Given the description of an element on the screen output the (x, y) to click on. 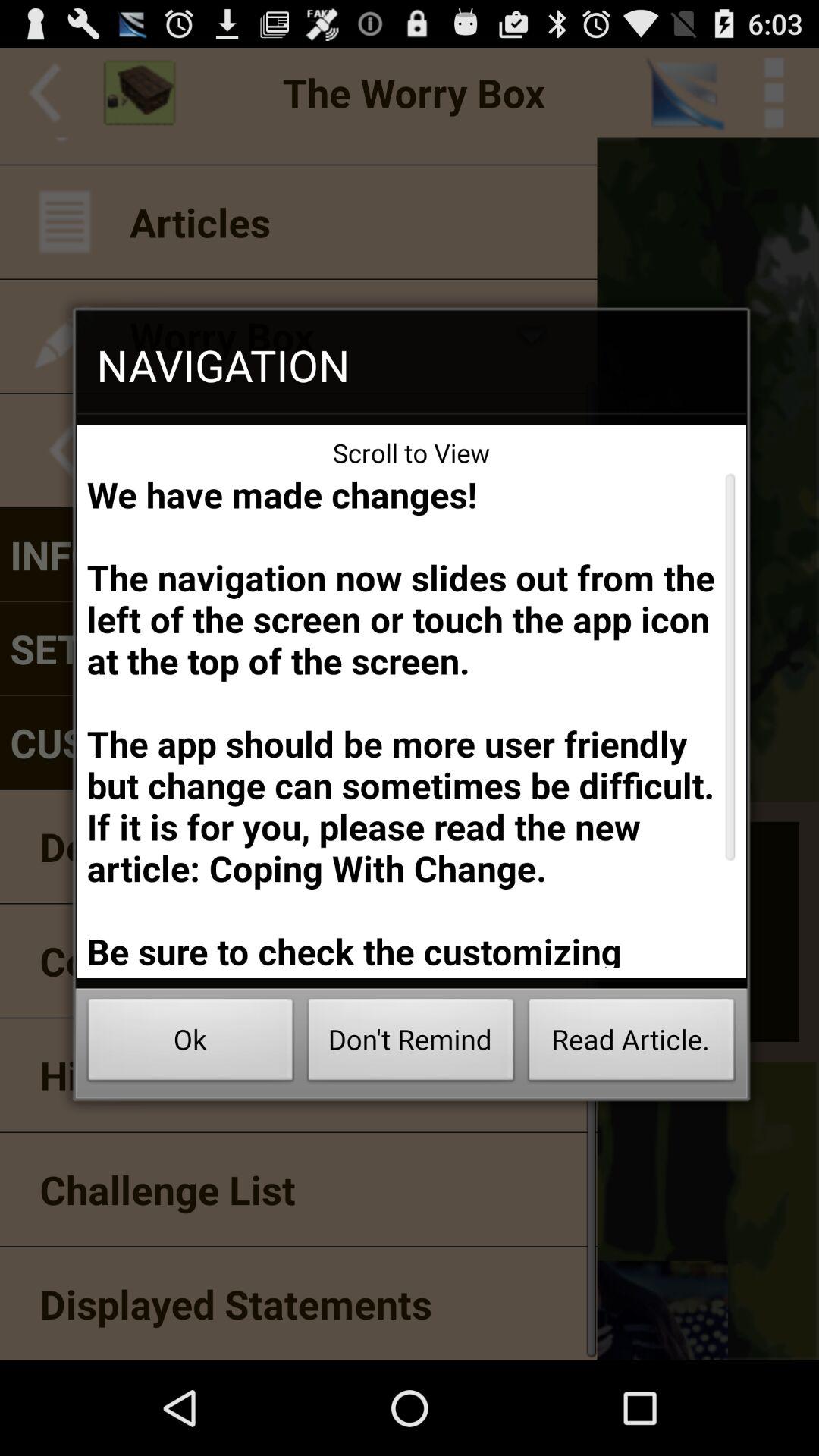
choose the don't remind (410, 1044)
